Given the description of an element on the screen output the (x, y) to click on. 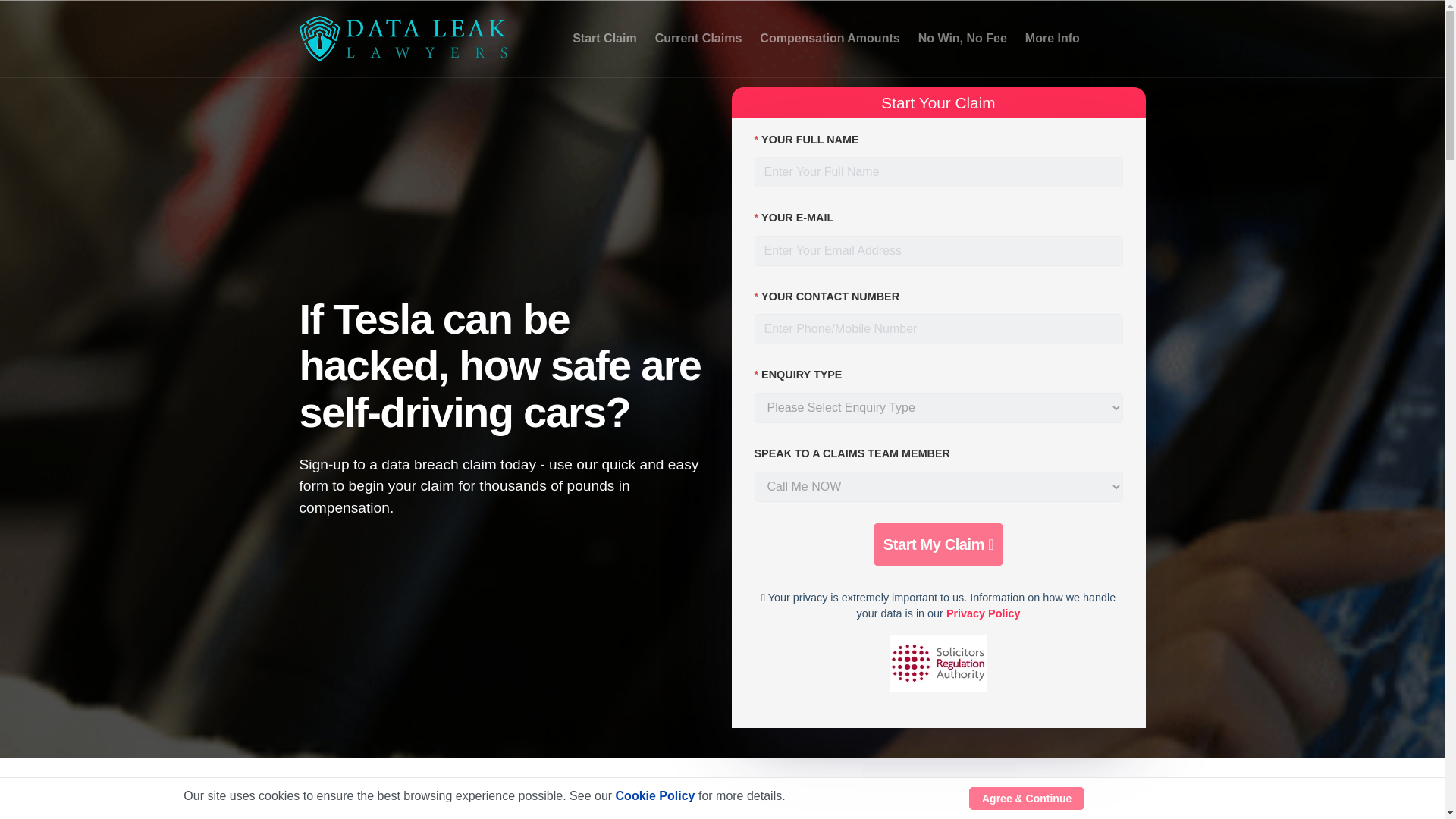
Start Claim (604, 38)
Our Privacy policy (983, 613)
Current Claims (698, 38)
Compensation Amounts (829, 38)
